Given the description of an element on the screen output the (x, y) to click on. 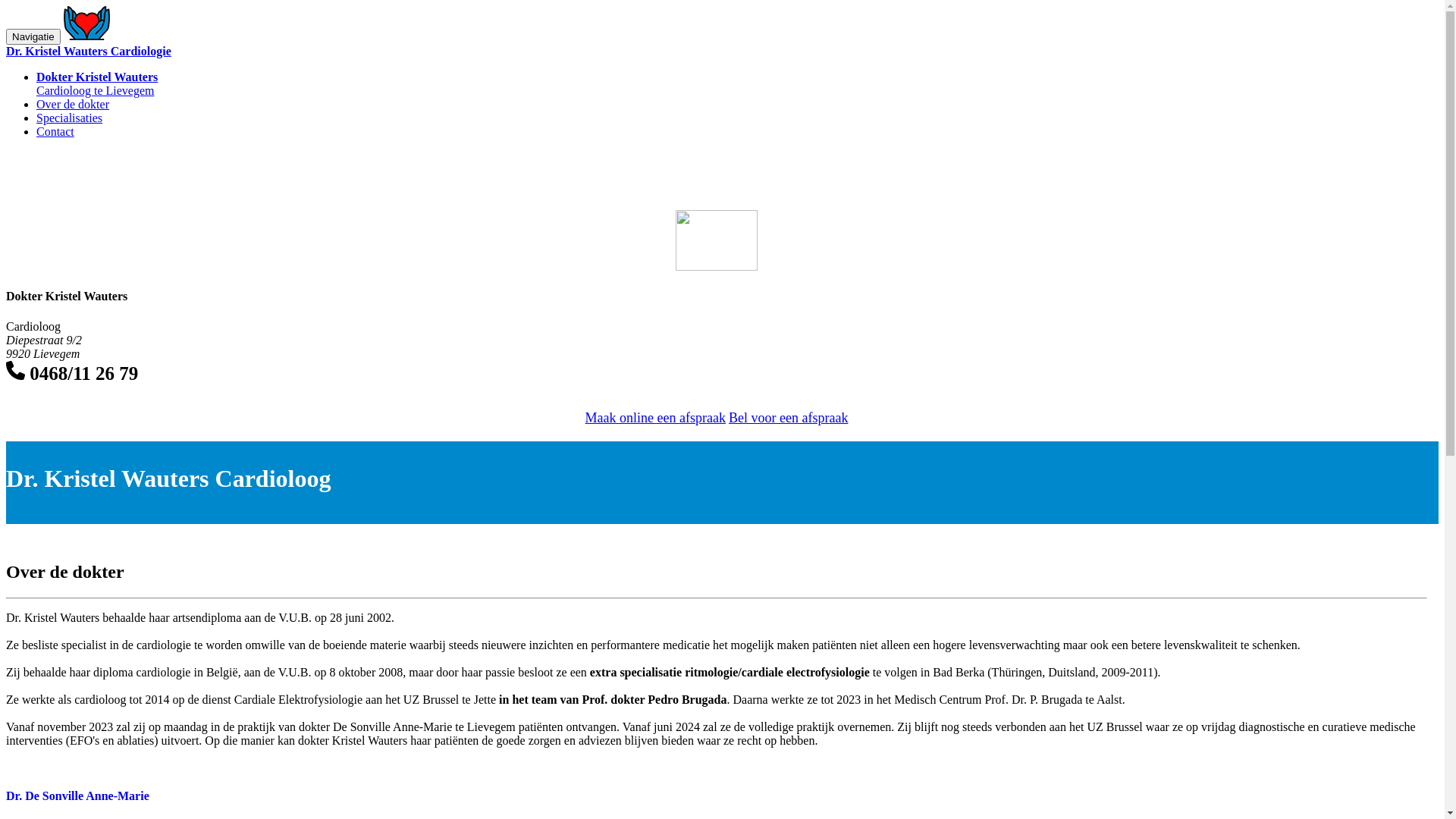
Dr. De Sonville Anne-Marie Element type: text (716, 796)
Over de dokter Element type: text (72, 103)
Specialisaties Element type: text (69, 117)
Maak online een afspraak Element type: text (655, 411)
Dr. Kristel Wauters Cardiologie Element type: text (722, 43)
Navigatie Element type: text (33, 36)
Dokter Kristel Wauters
Cardioloog te Lievegem Element type: text (96, 83)
Contact Element type: text (55, 131)
Bel voor een afspraak Element type: text (787, 411)
0468/11 26 79 Element type: text (72, 373)
